Given the description of an element on the screen output the (x, y) to click on. 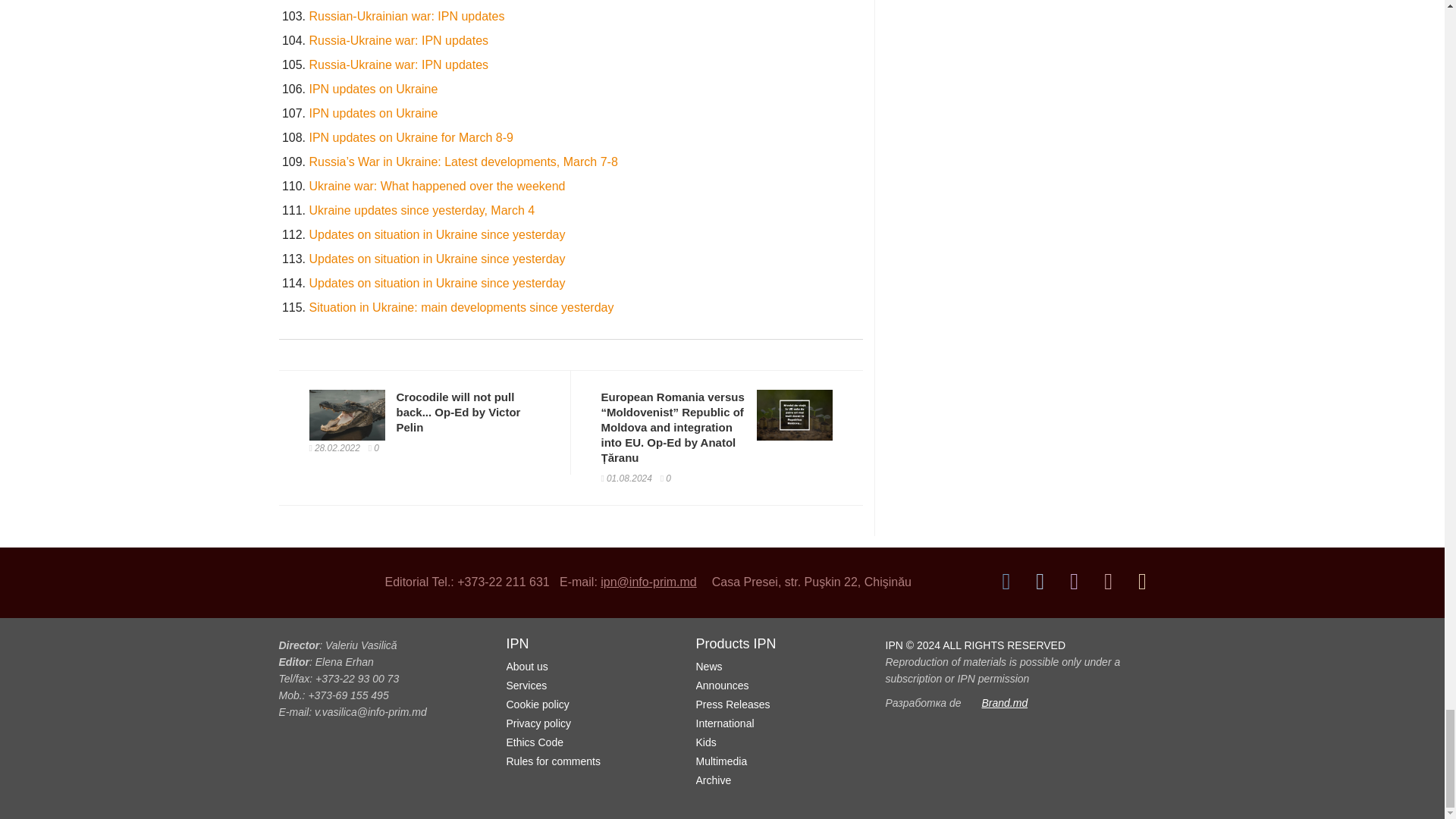
instagram (1074, 581)
twitter (1040, 581)
